Given the description of an element on the screen output the (x, y) to click on. 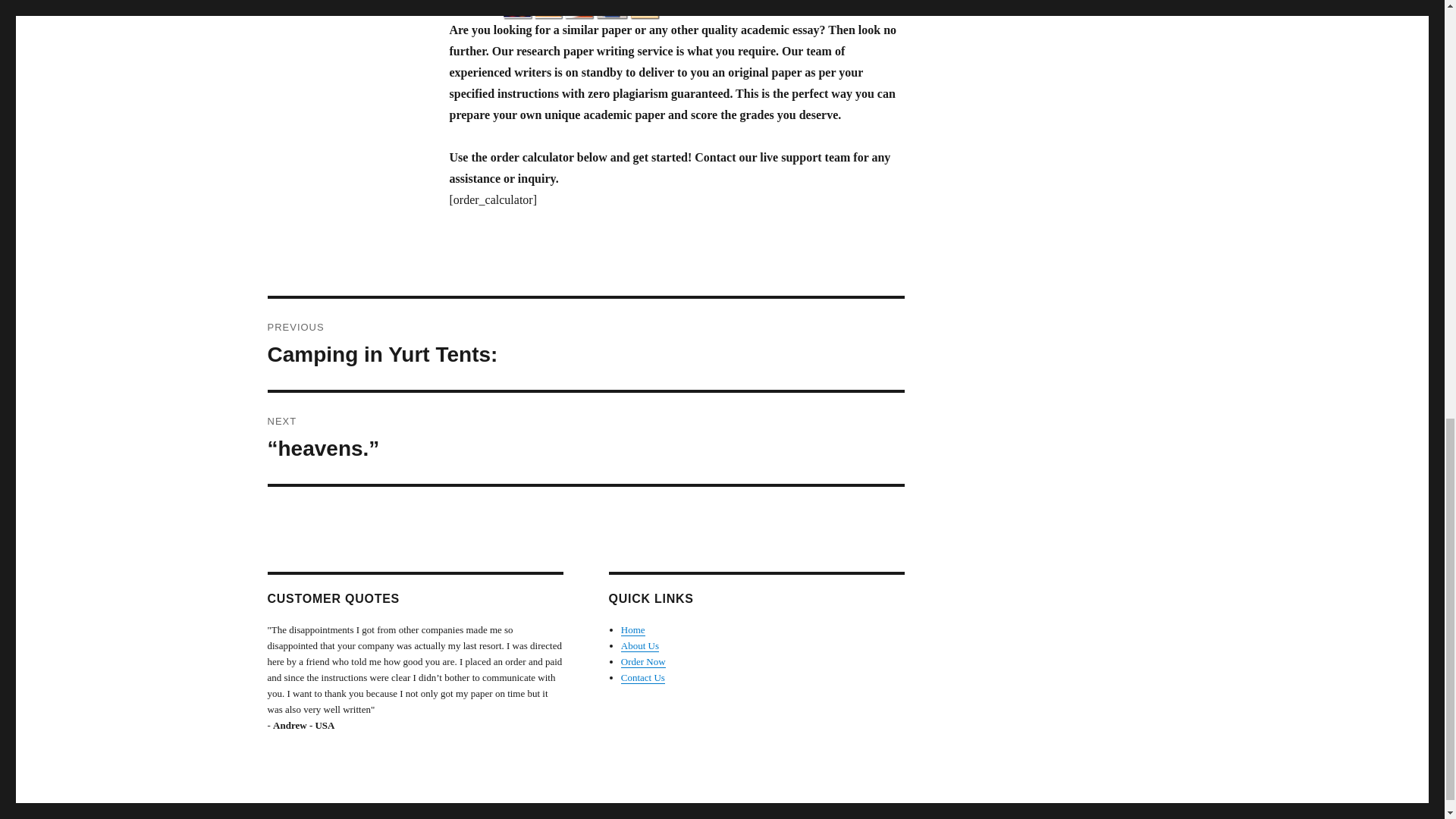
Click to Order (676, 9)
